Given the description of an element on the screen output the (x, y) to click on. 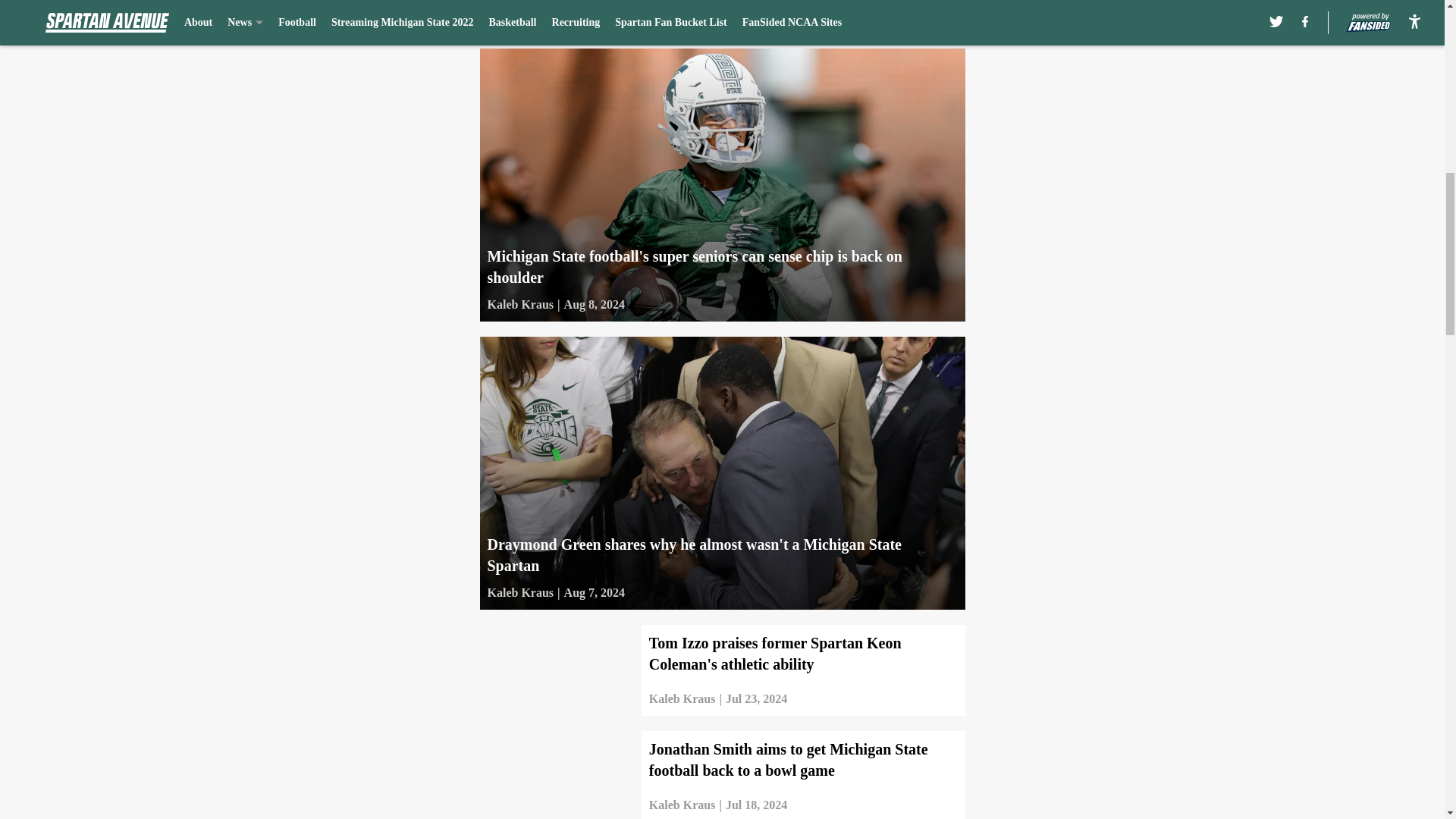
Kaleb Kraus (519, 592)
Kaleb Kraus (519, 304)
Kaleb Kraus (519, 16)
